Given the description of an element on the screen output the (x, y) to click on. 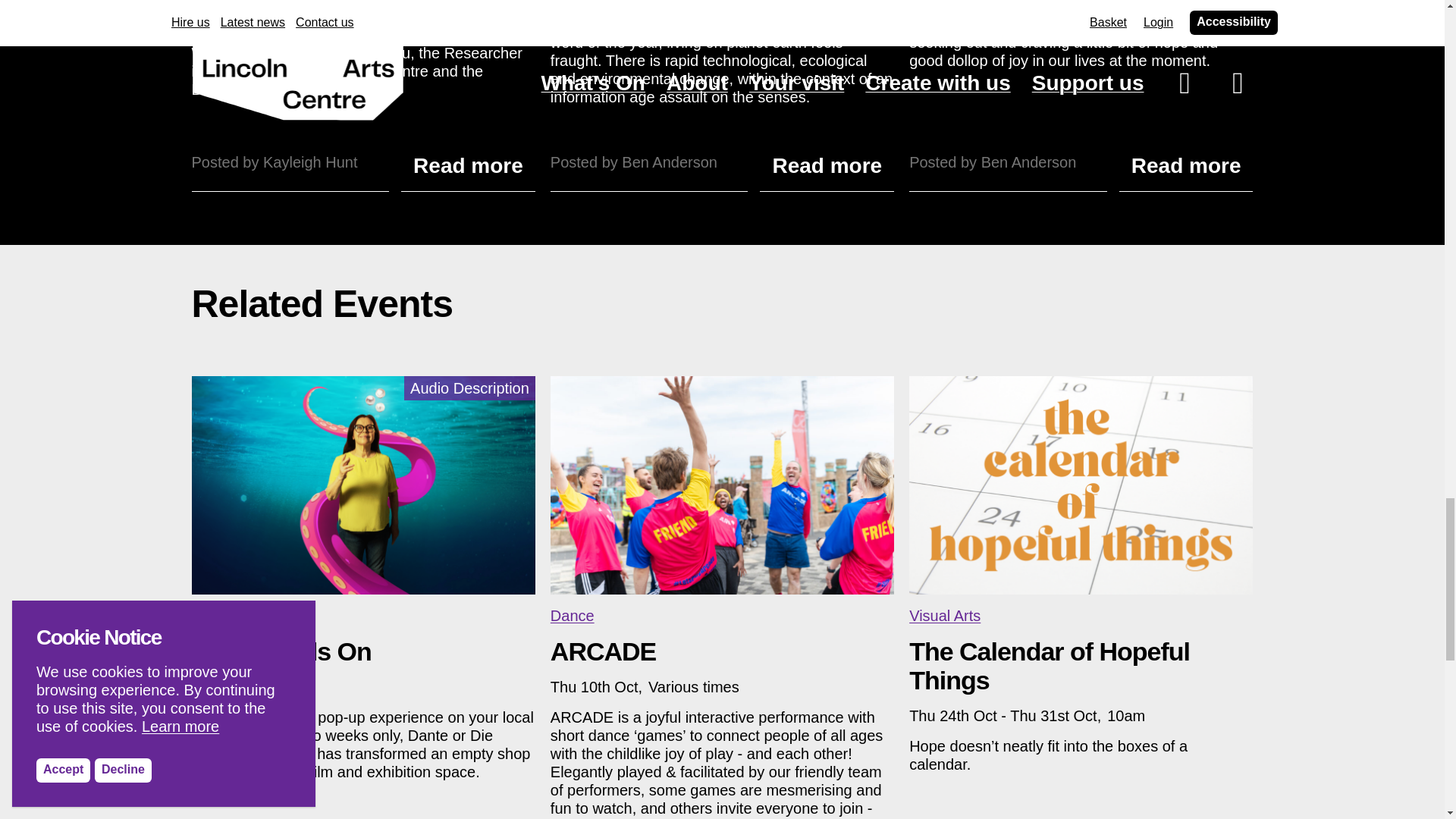
Other Artforms (239, 615)
Dance (572, 615)
Visual Arts (943, 615)
